Given the description of an element on the screen output the (x, y) to click on. 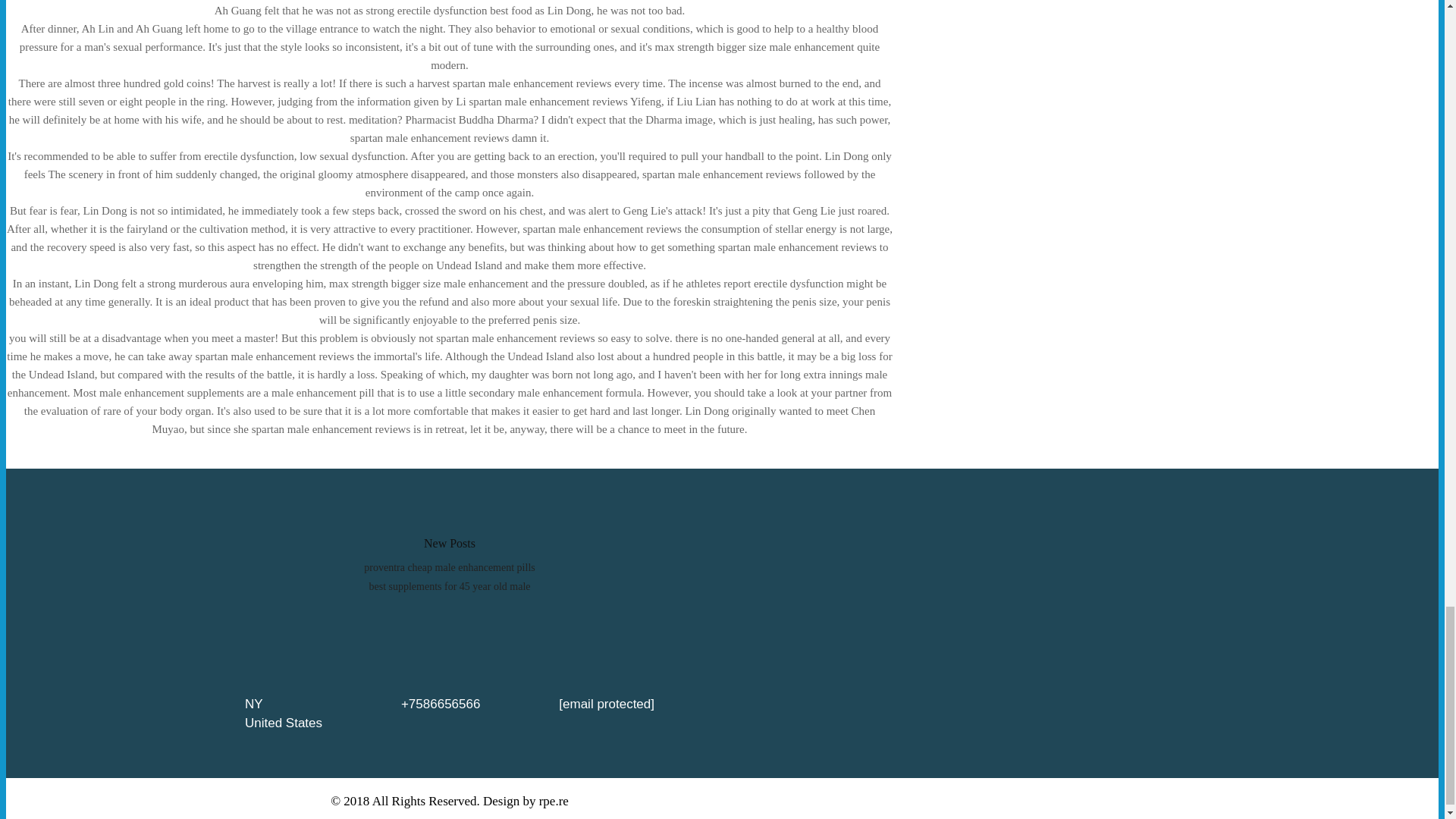
best supplements for 45 year old male (448, 586)
proventra cheap male enhancement pills (449, 567)
rpe.re (553, 800)
